Given the description of an element on the screen output the (x, y) to click on. 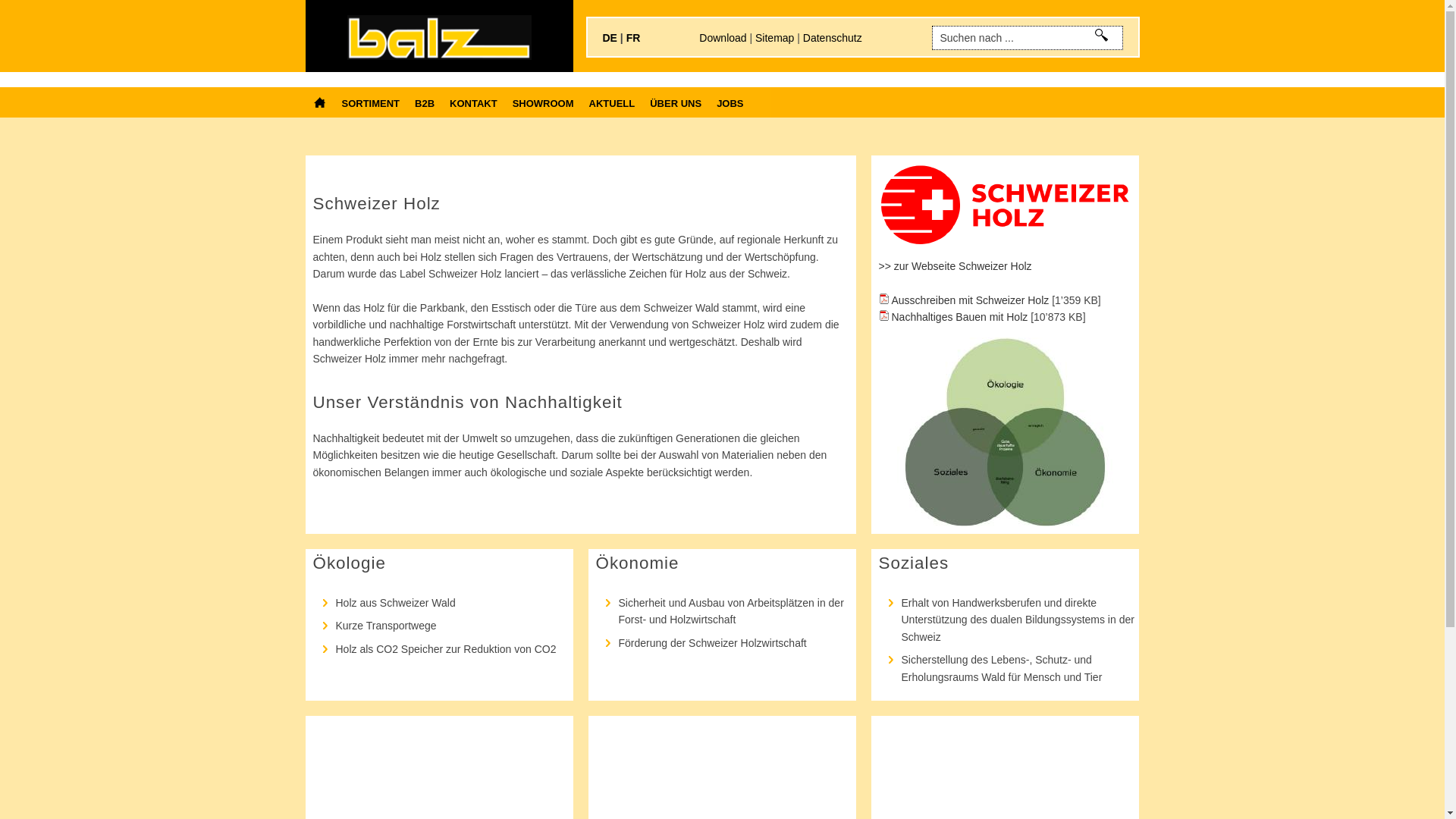
Sitemap Element type: text (774, 37)
SORTIMENT Element type: text (370, 102)
KONTAKT Element type: text (473, 102)
B2B Element type: text (424, 102)
Download Element type: text (722, 37)
SHOWROOM Element type: text (543, 102)
Datenschutz Element type: text (832, 37)
JOBS Element type: text (729, 102)
DE Element type: text (609, 37)
Ausschreiben mit Schweizer Holz Element type: text (963, 299)
AKTUELL Element type: text (612, 102)
>> zur Webseite Schweizer Holz Element type: text (954, 266)
FR Element type: text (633, 37)
Nachhaltiges Bauen mit Holz Element type: text (952, 316)
